Given the description of an element on the screen output the (x, y) to click on. 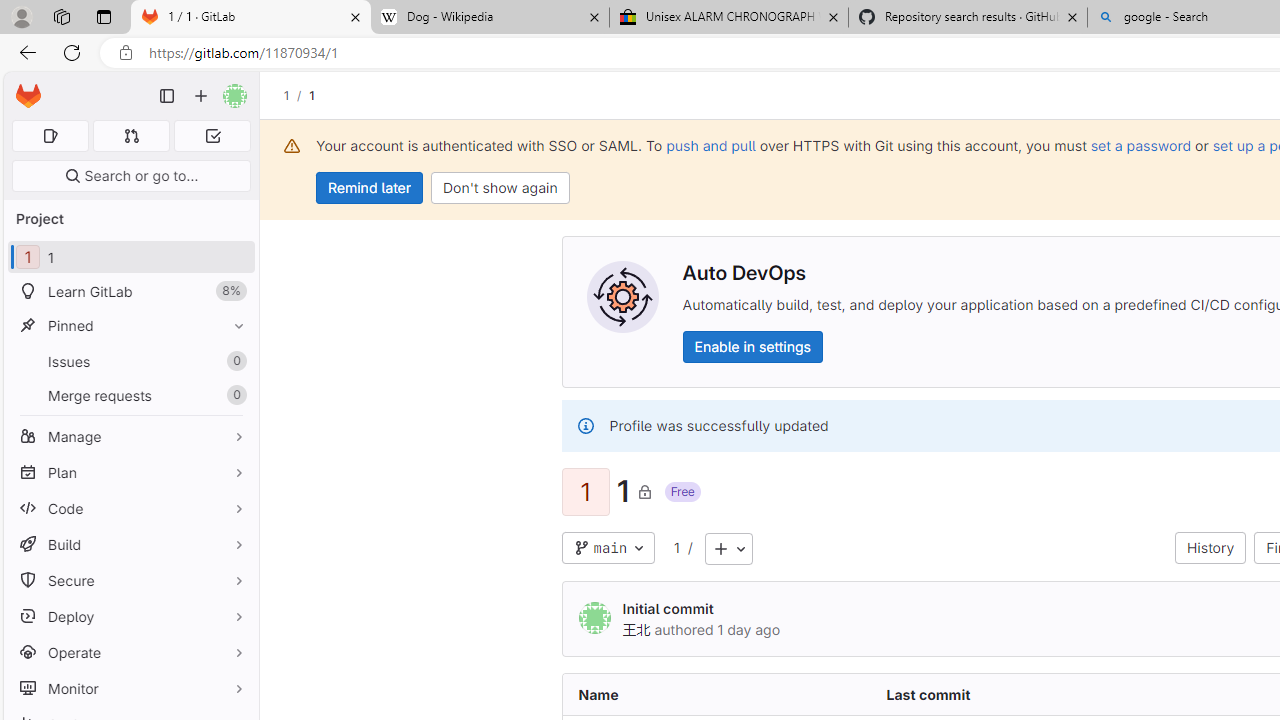
Add to tree (728, 548)
Learn GitLab8% (130, 291)
Class: s16 icon (644, 491)
Merge requests0 (130, 394)
Secure (130, 579)
11 (130, 257)
To-Do list 0 (212, 136)
Primary navigation sidebar (167, 96)
Issues0 (130, 361)
Operate (130, 651)
